Given the description of an element on the screen output the (x, y) to click on. 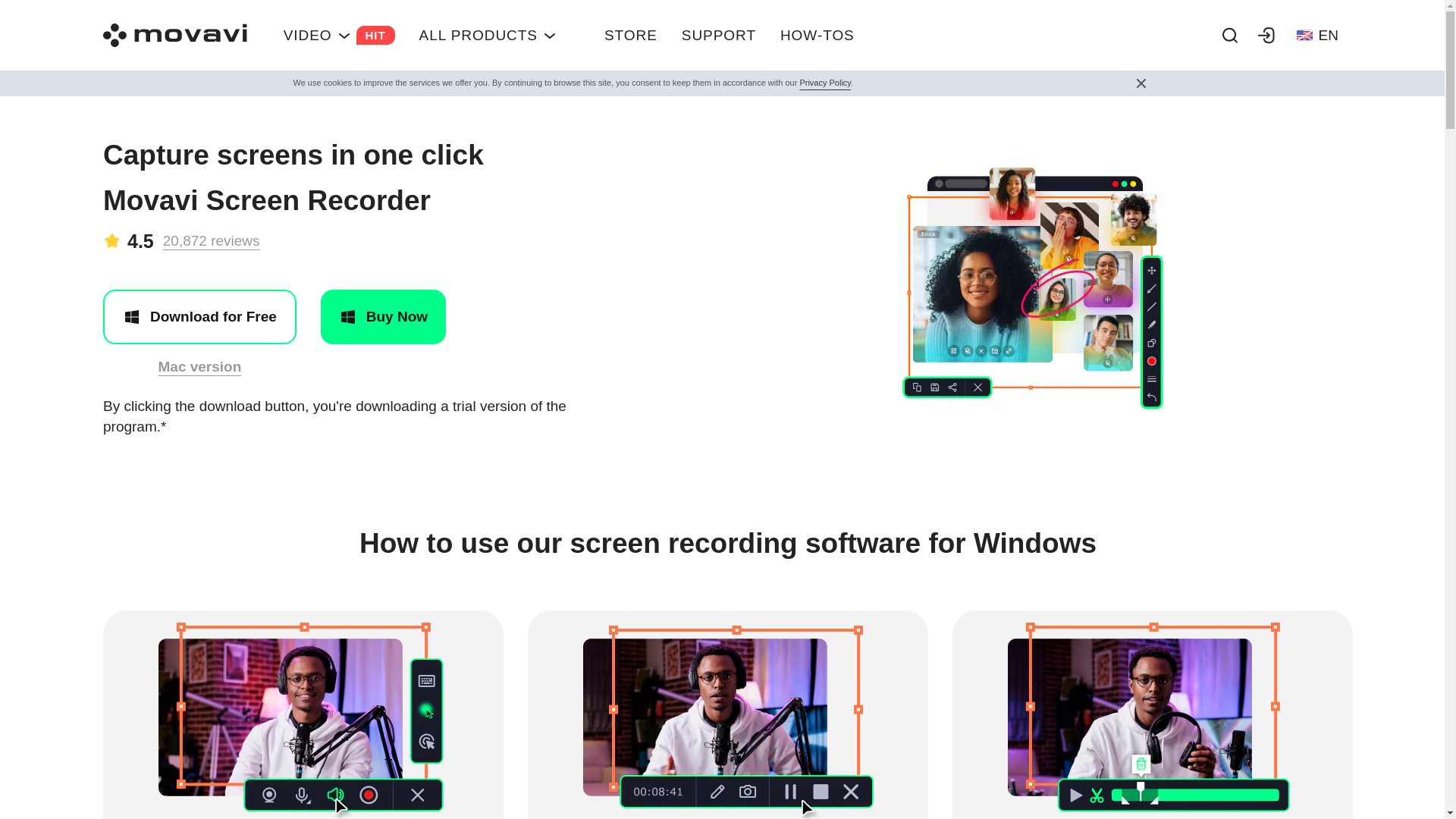
HOW-TOS (817, 35)
ALL PRODUCTS (488, 35)
EN (338, 35)
STORE (1317, 35)
SUPPORT (630, 35)
Privacy Policy (718, 35)
